Given the description of an element on the screen output the (x, y) to click on. 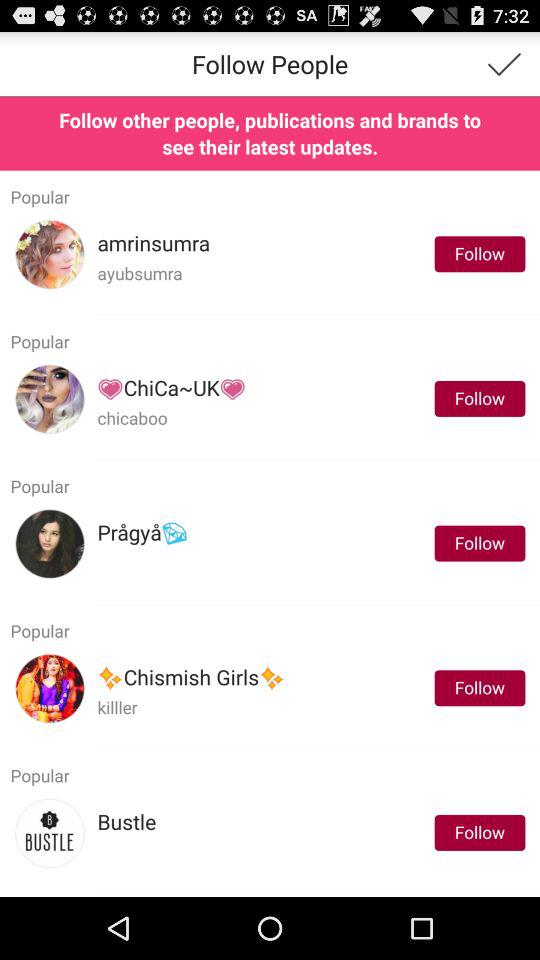
tap app to the left of follow (171, 388)
